Given the description of an element on the screen output the (x, y) to click on. 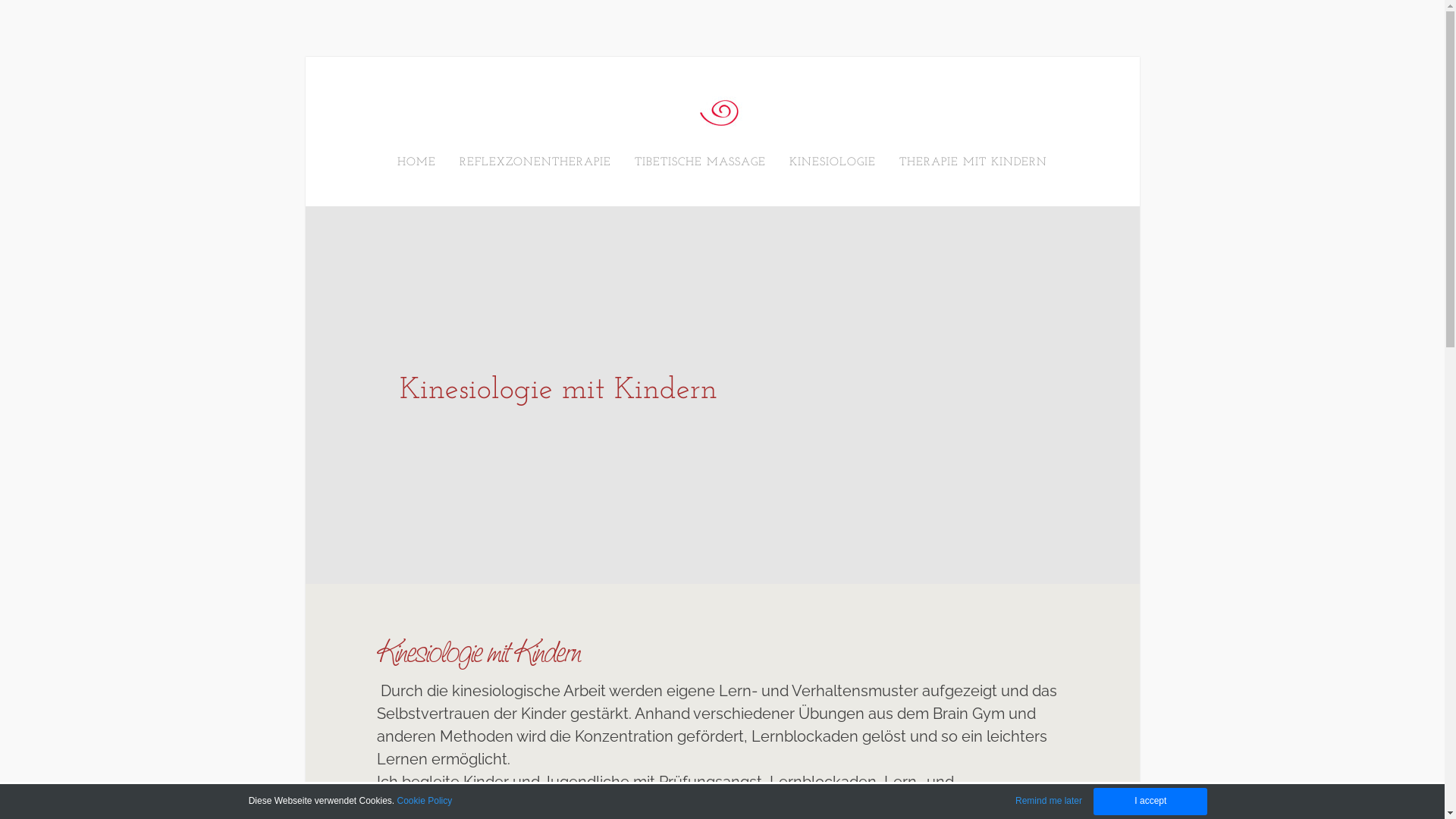
HOME Element type: text (416, 162)
Remind me later Element type: text (1048, 800)
KINESIOLOGIE Element type: text (832, 162)
Cookie Policy Element type: text (424, 800)
REFLEXZONENTHERAPIE Element type: text (534, 162)
THERAPIE MIT KINDERN Element type: text (972, 162)
TIBETISCHE MASSAGE Element type: text (700, 162)
I accept Element type: text (1150, 801)
